Given the description of an element on the screen output the (x, y) to click on. 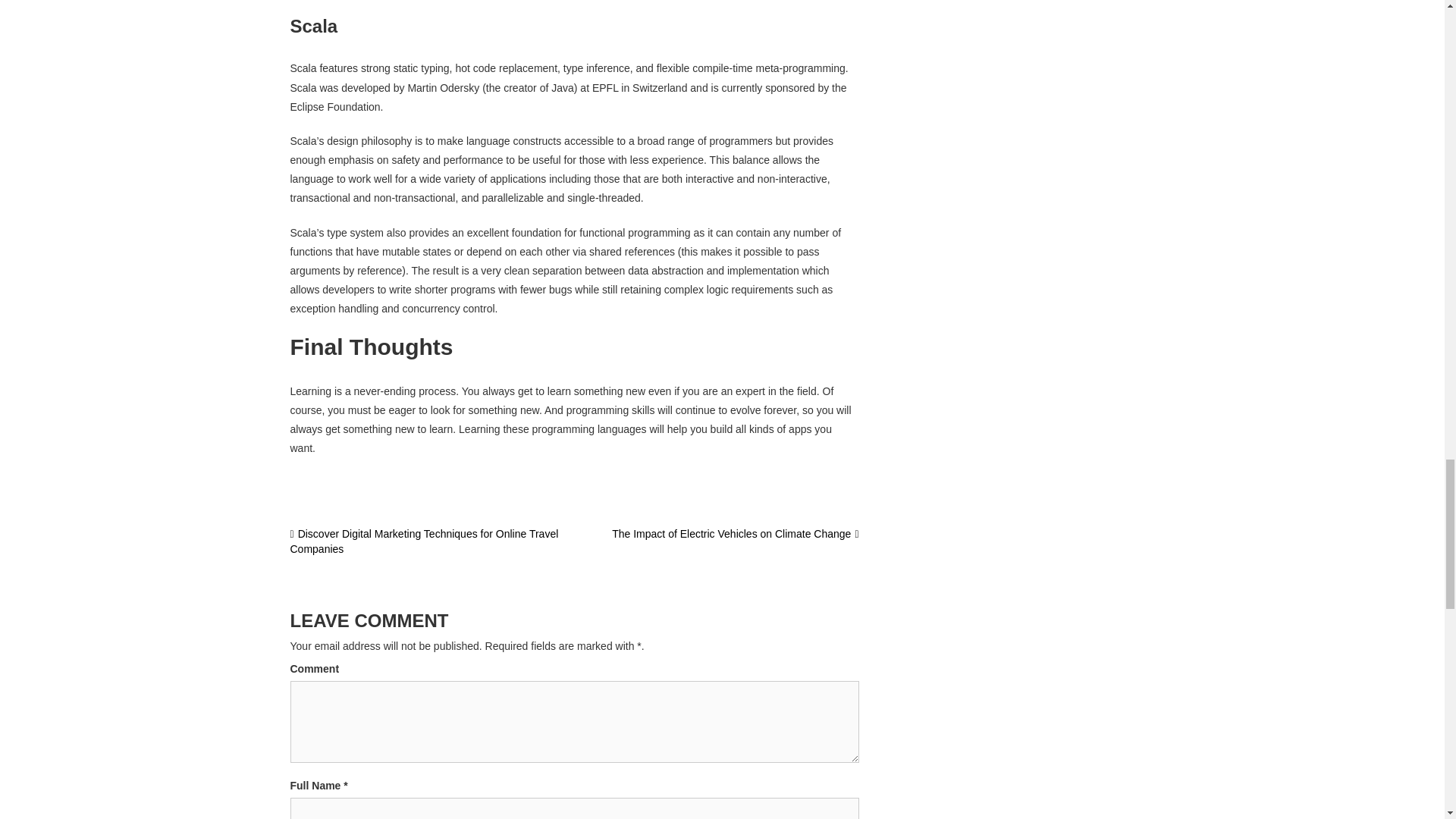
The Impact of Electric Vehicles on Climate Change (735, 533)
